Given the description of an element on the screen output the (x, y) to click on. 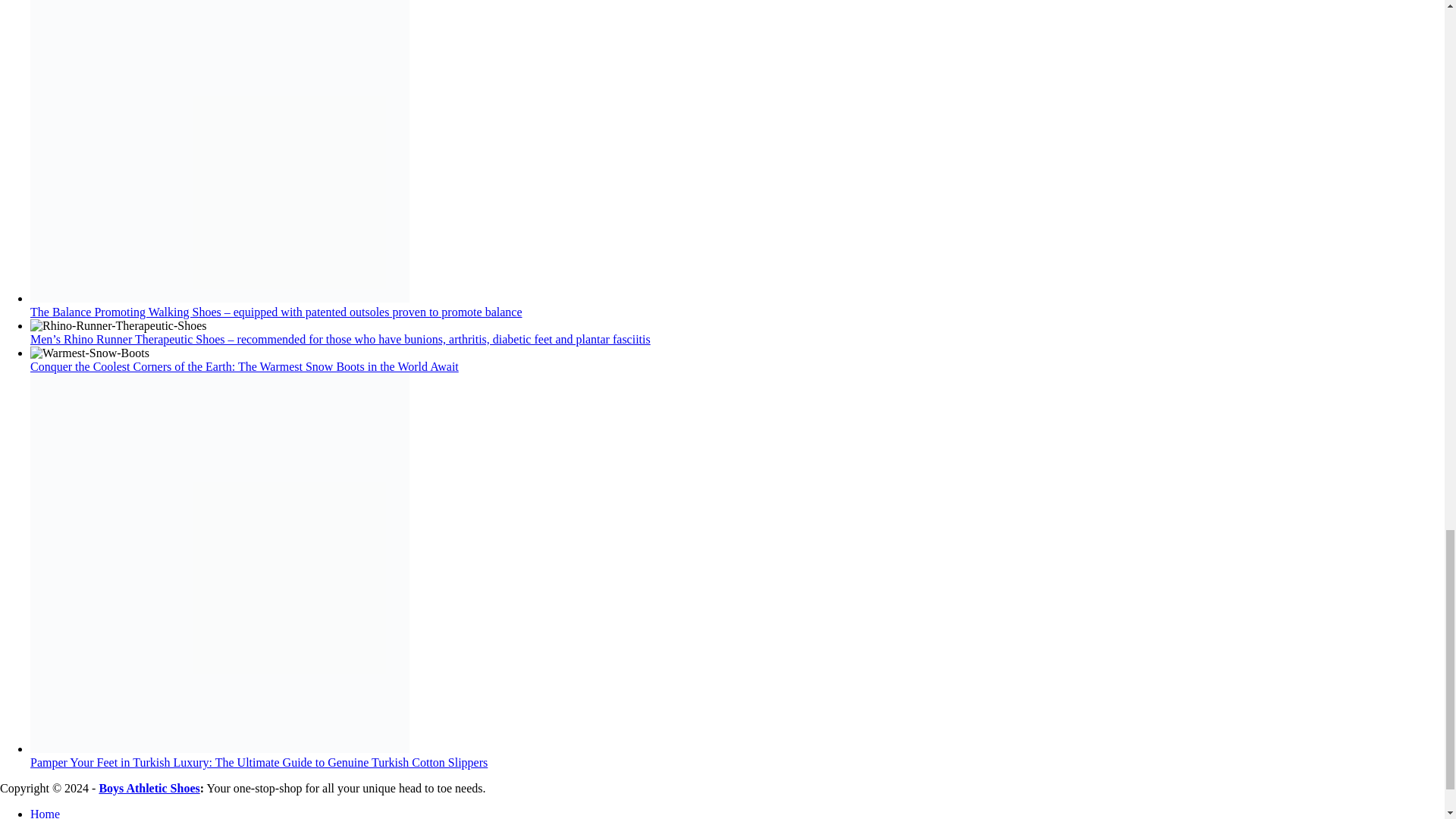
Boys Athletic Shoes (149, 788)
Home (44, 813)
